Given the description of an element on the screen output the (x, y) to click on. 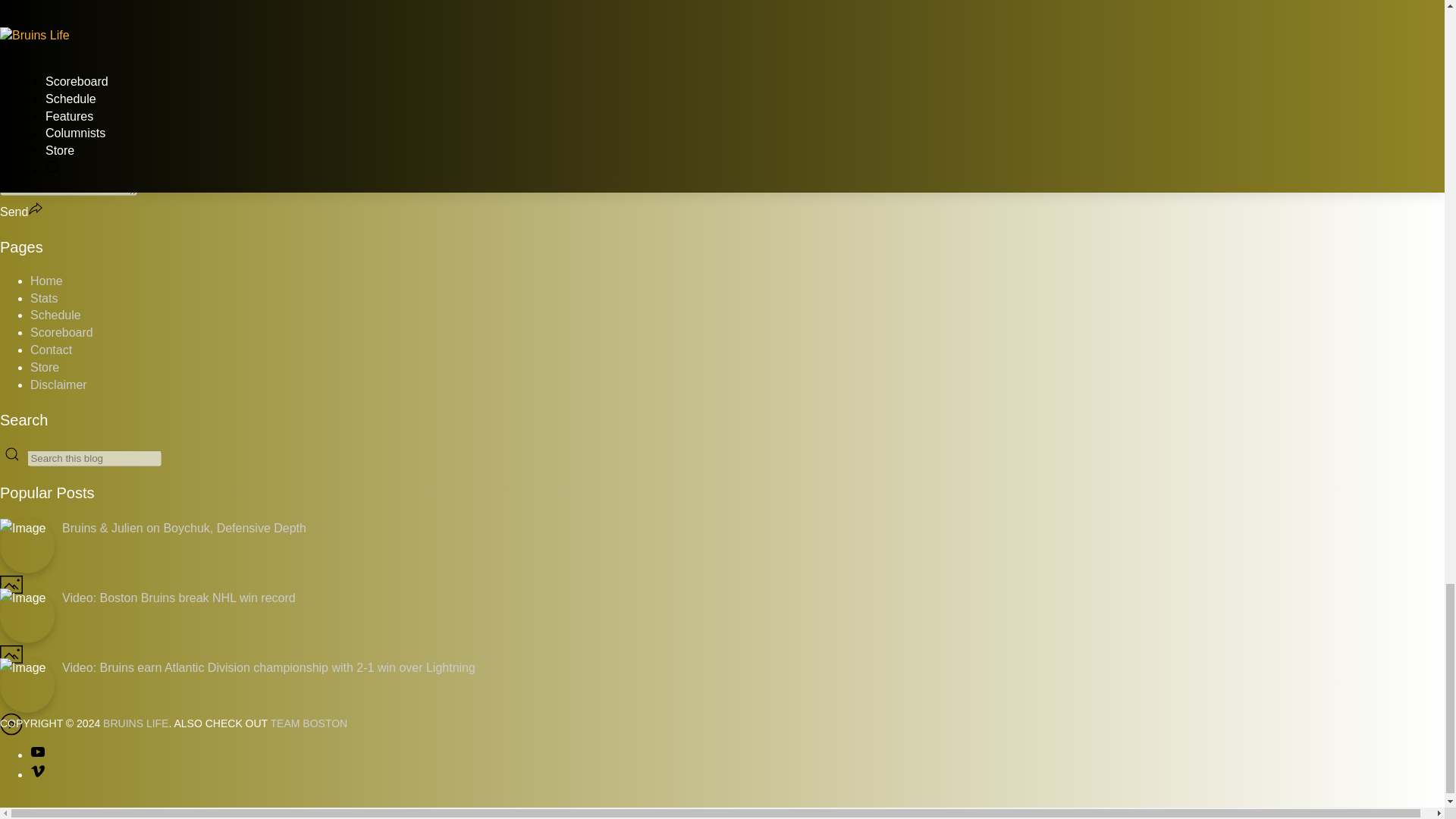
Home (46, 280)
Stats (44, 297)
